Given the description of an element on the screen output the (x, y) to click on. 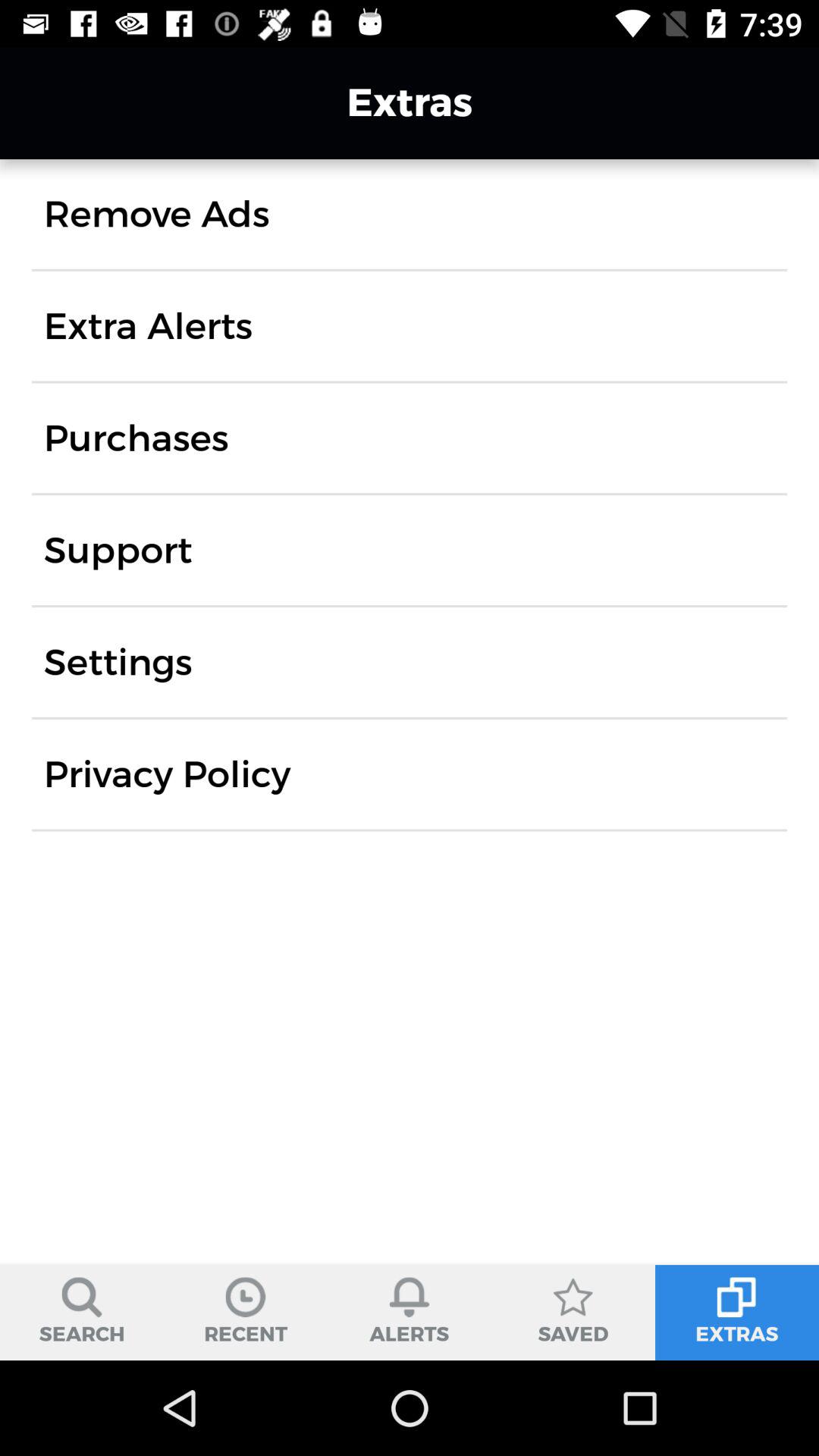
flip to extra alerts item (147, 326)
